Given the description of an element on the screen output the (x, y) to click on. 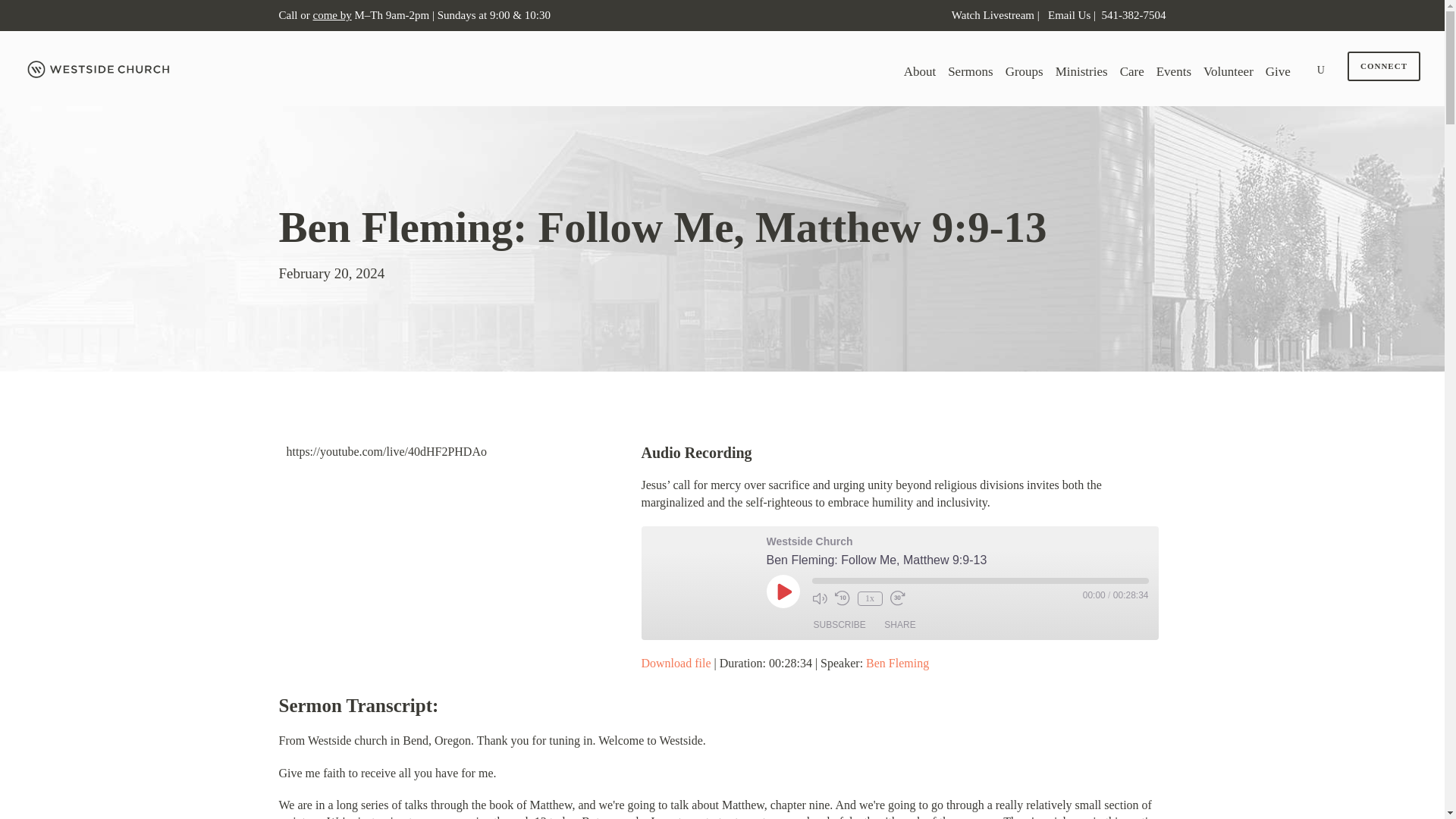
Share (899, 624)
Westside Church (698, 582)
Subscribe (838, 624)
Seek (979, 580)
come by (331, 15)
logo-westside-church-2020 (100, 69)
Rewind 10 seconds (841, 598)
Play (782, 591)
Playback Speed (869, 598)
Fast Forward 30 seconds (897, 598)
About (920, 75)
Sundays (454, 15)
